Given the description of an element on the screen output the (x, y) to click on. 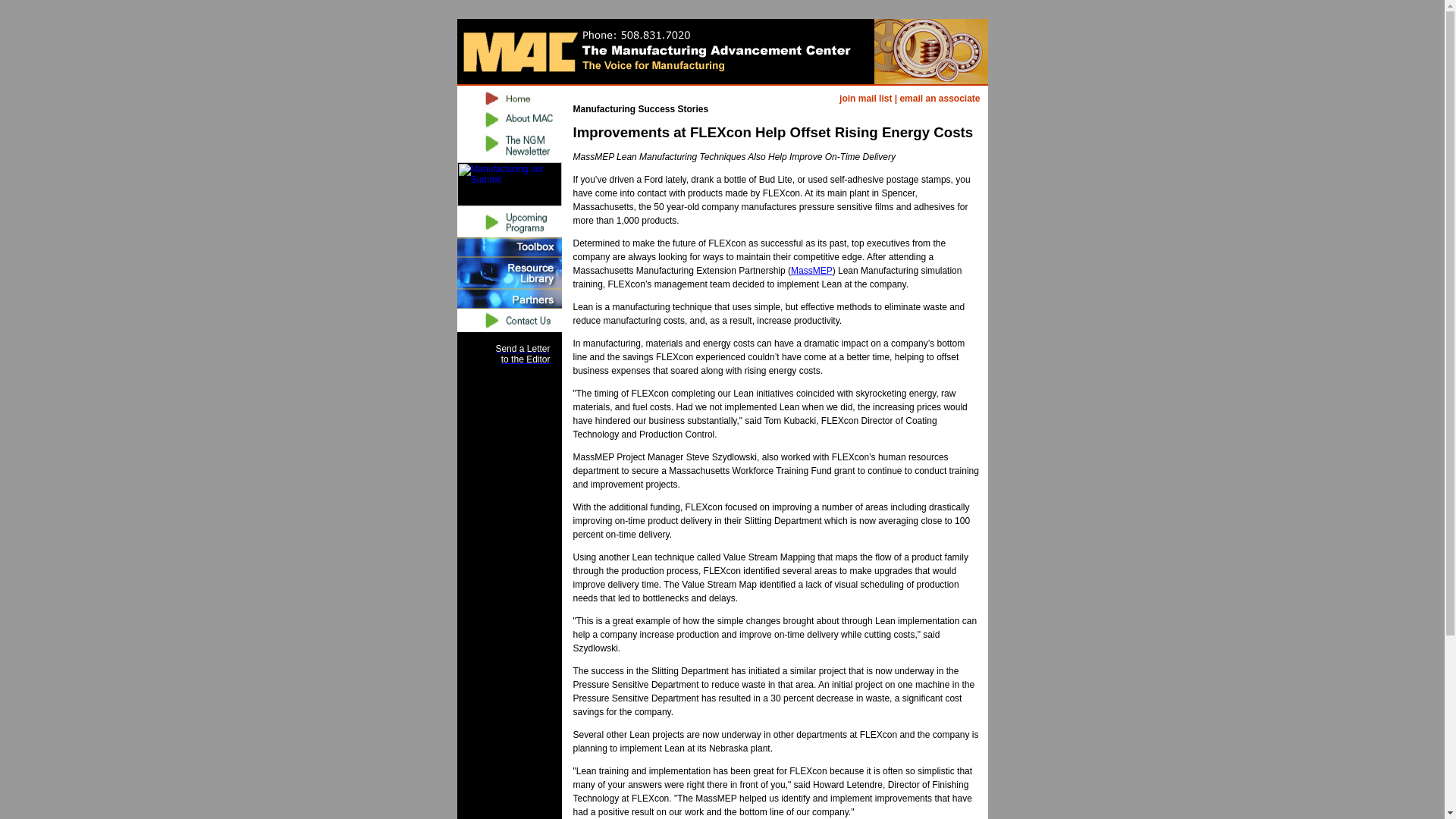
Contact Us (508, 320)
Manufacturing our Summit (508, 184)
The MAC Action Newsline (508, 146)
About MAC (508, 119)
email an associate (939, 98)
MassMEP (811, 270)
Resource Library (508, 272)
Partners (508, 298)
Email and Associate (939, 98)
Toolbox (508, 246)
Home (508, 96)
Join Mail List (522, 354)
join mail list (865, 98)
Upcoming Programs (865, 98)
